Given the description of an element on the screen output the (x, y) to click on. 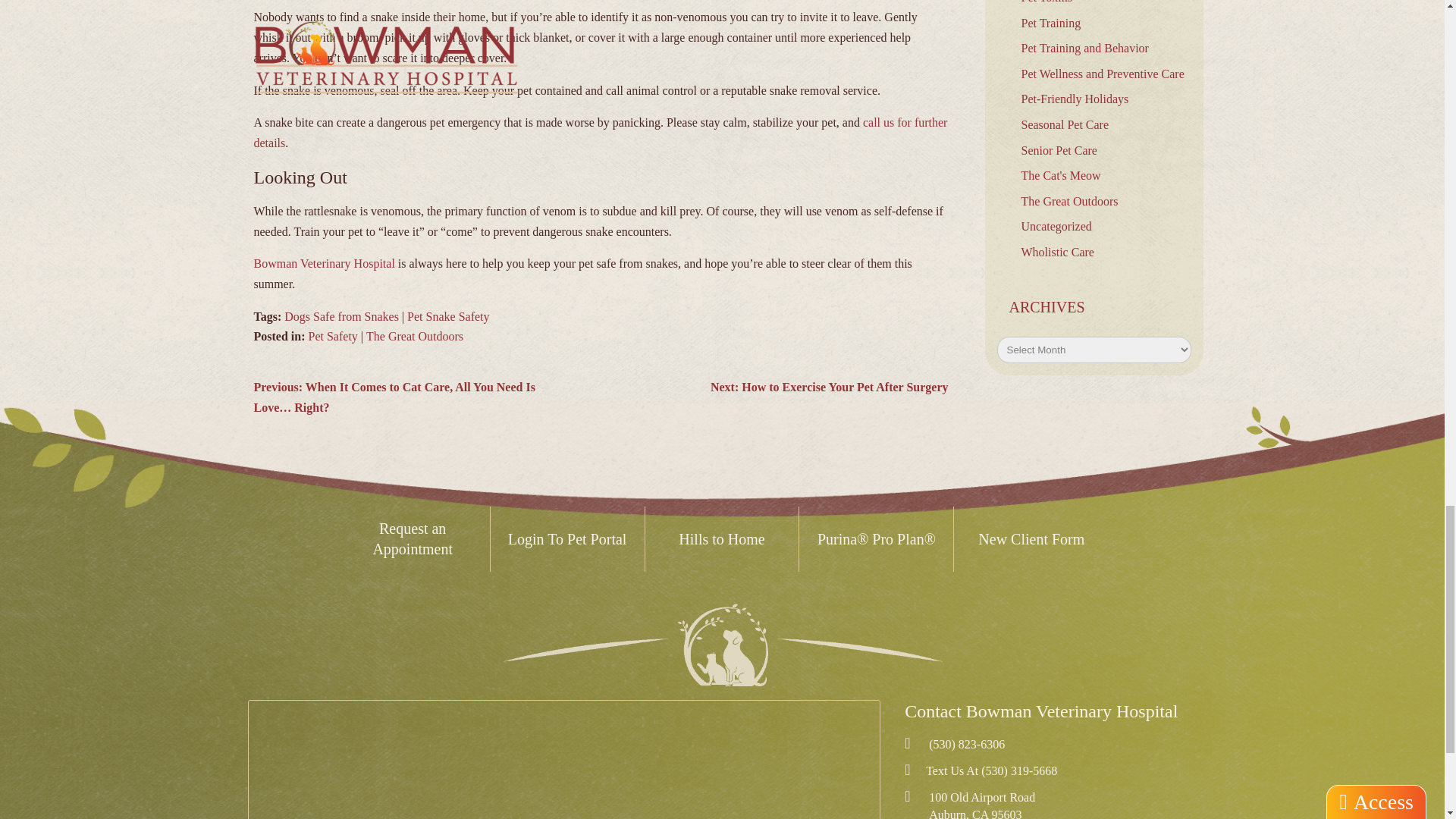
Bowman Veterinary Hospital Map (564, 760)
Bowman Veterinary Hospital (722, 644)
